Given the description of an element on the screen output the (x, y) to click on. 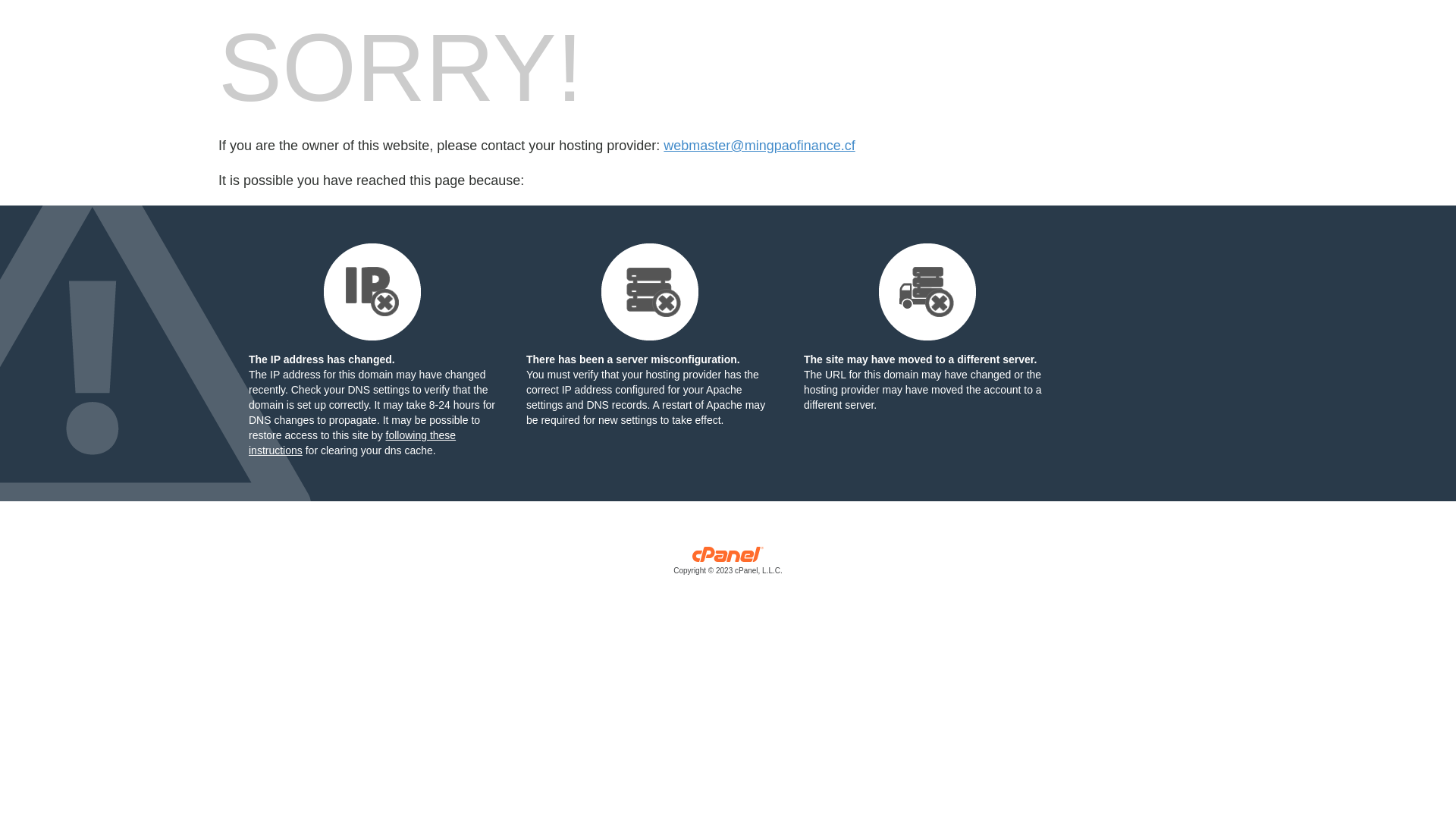
webmaster@mingpaofinance.cf Element type: text (758, 145)
following these instructions Element type: text (351, 442)
